Given the description of an element on the screen output the (x, y) to click on. 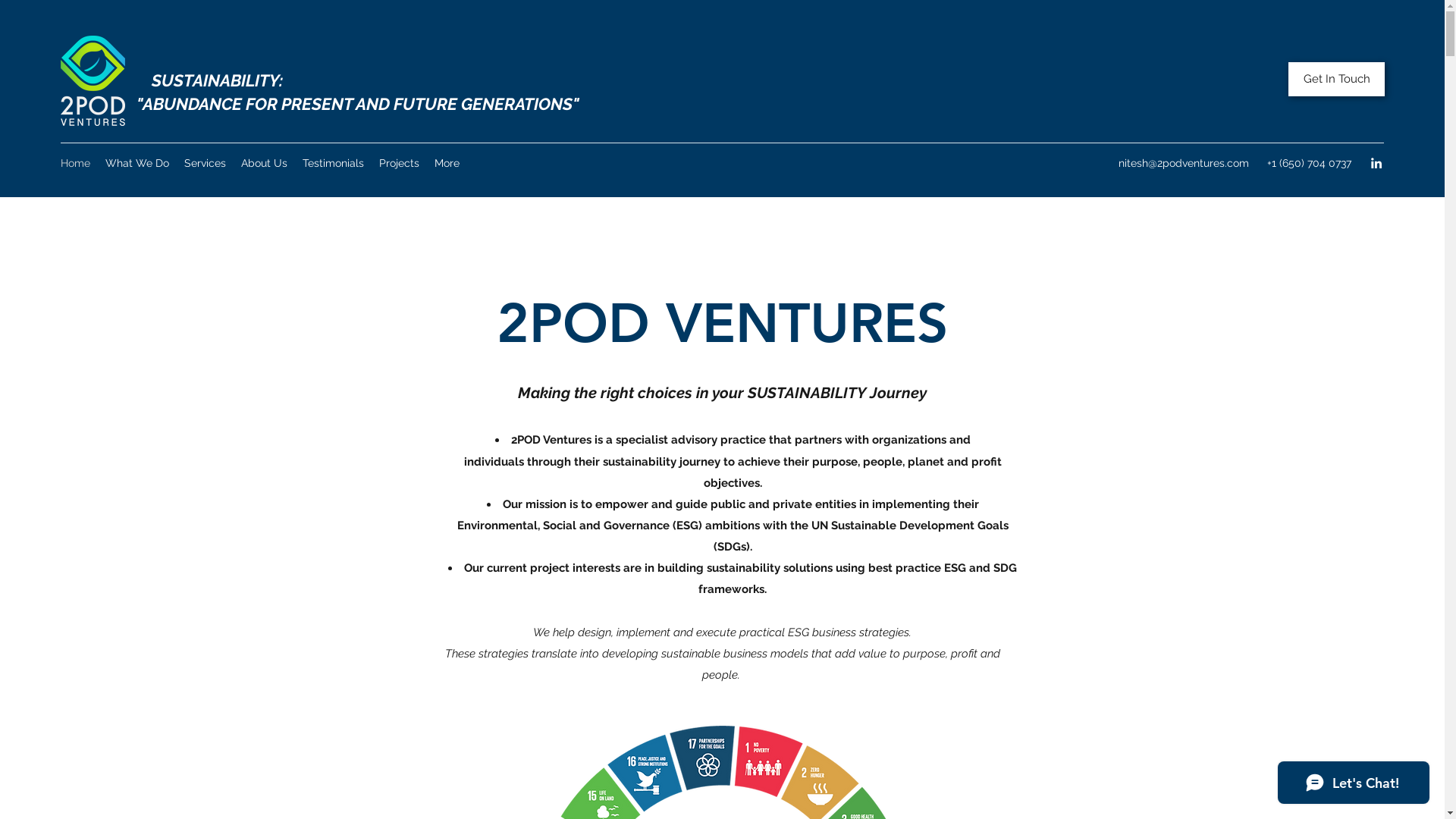
Testimonials Element type: text (332, 162)
What We Do Element type: text (136, 162)
Home Element type: text (75, 162)
nitesh@2podventures.com Element type: text (1183, 162)
Projects Element type: text (398, 162)
About Us Element type: text (263, 162)
Services Element type: text (204, 162)
Get In Touch Element type: text (1336, 79)
